Given the description of an element on the screen output the (x, y) to click on. 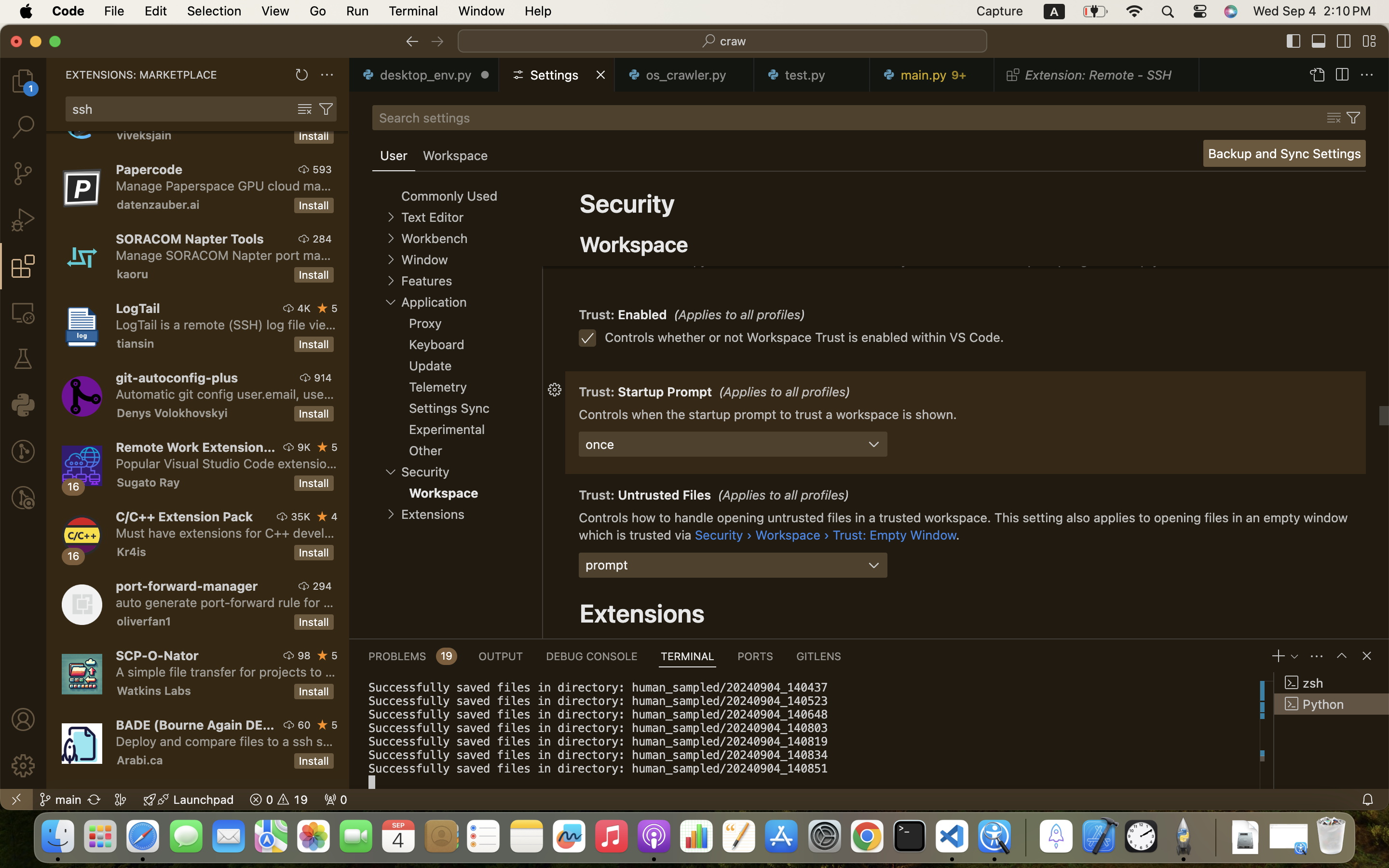
1 Element type: AXRadioButton (393, 155)
0 GITLENS Element type: AXRadioButton (819, 655)
 Element type: AXStaticText (22, 719)
 Element type: AXStaticText (1366, 74)
Arabi.ca Element type: AXStaticText (139, 759)
